Given the description of an element on the screen output the (x, y) to click on. 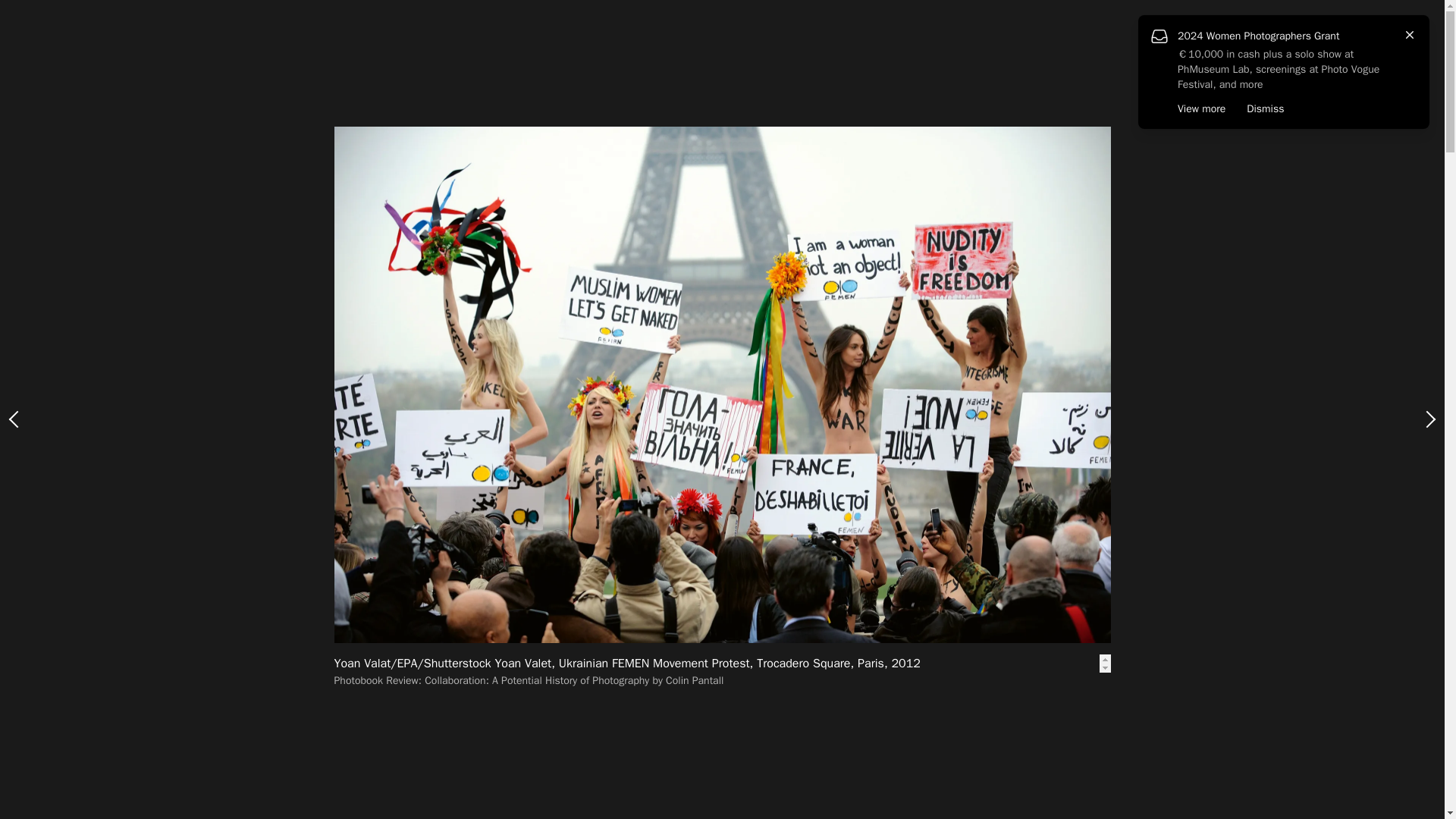
Fullscreen (1320, 62)
Grants (41, 108)
Colin Pantall (509, 364)
Grid (1262, 62)
News Items (488, 64)
Privacy Policy (42, 773)
Stay in the loop (64, 692)
PhMuseum Facebook (41, 731)
About (36, 205)
PhMuseum Instagram (19, 731)
